Given the description of an element on the screen output the (x, y) to click on. 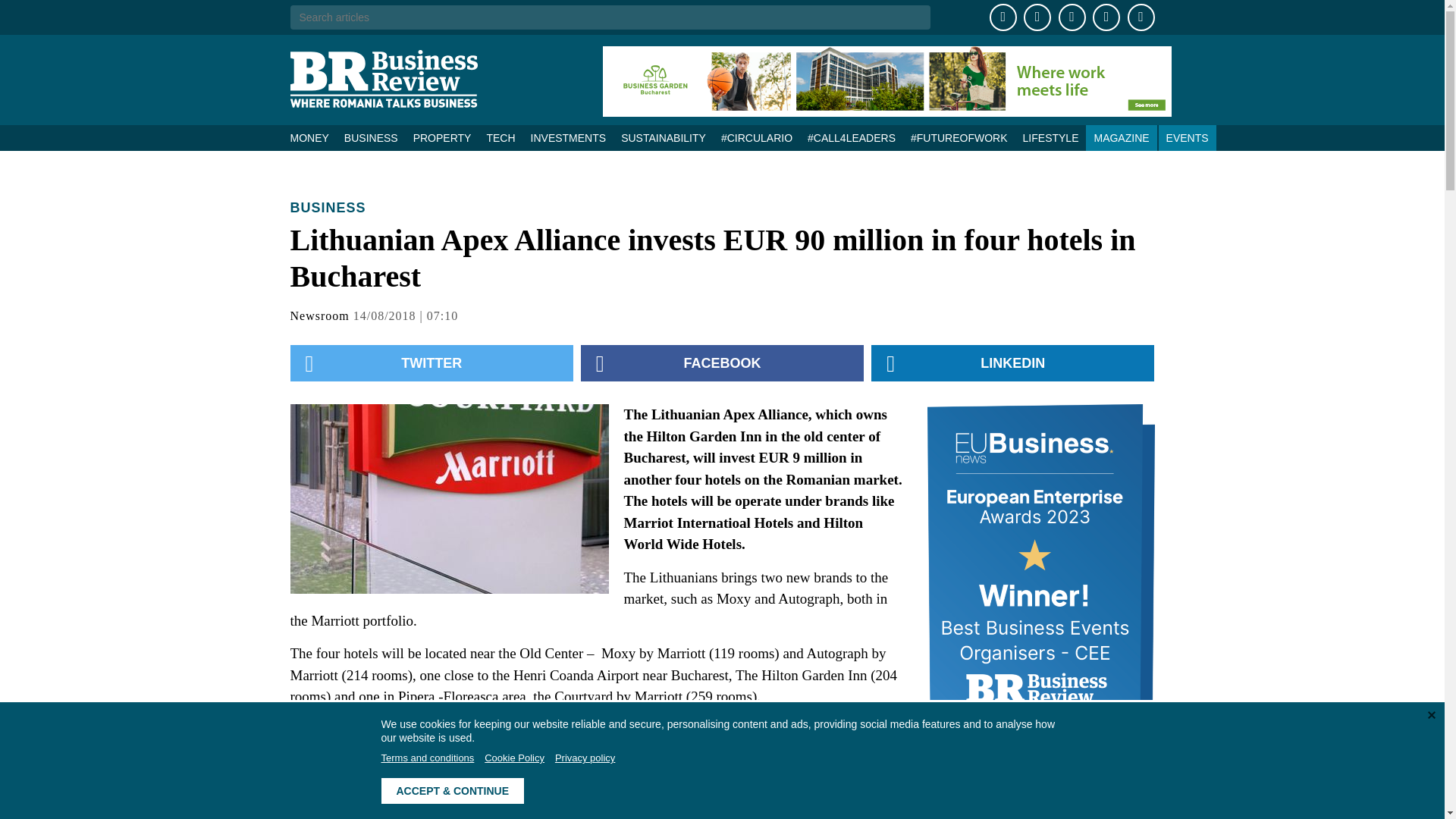
BUSINESS (371, 137)
FACEBOOK (721, 362)
PROPERTY (442, 137)
TWITTER (430, 362)
BUSINESS (327, 207)
TECH (500, 137)
MONEY (312, 137)
LINKEDIN (1012, 362)
INVESTMENTS (568, 137)
SUSTAINABILITY (662, 137)
MAGAZINE (1121, 137)
LIFESTYLE (1050, 137)
EVENTS (1186, 137)
Newsroom (319, 315)
